Given the description of an element on the screen output the (x, y) to click on. 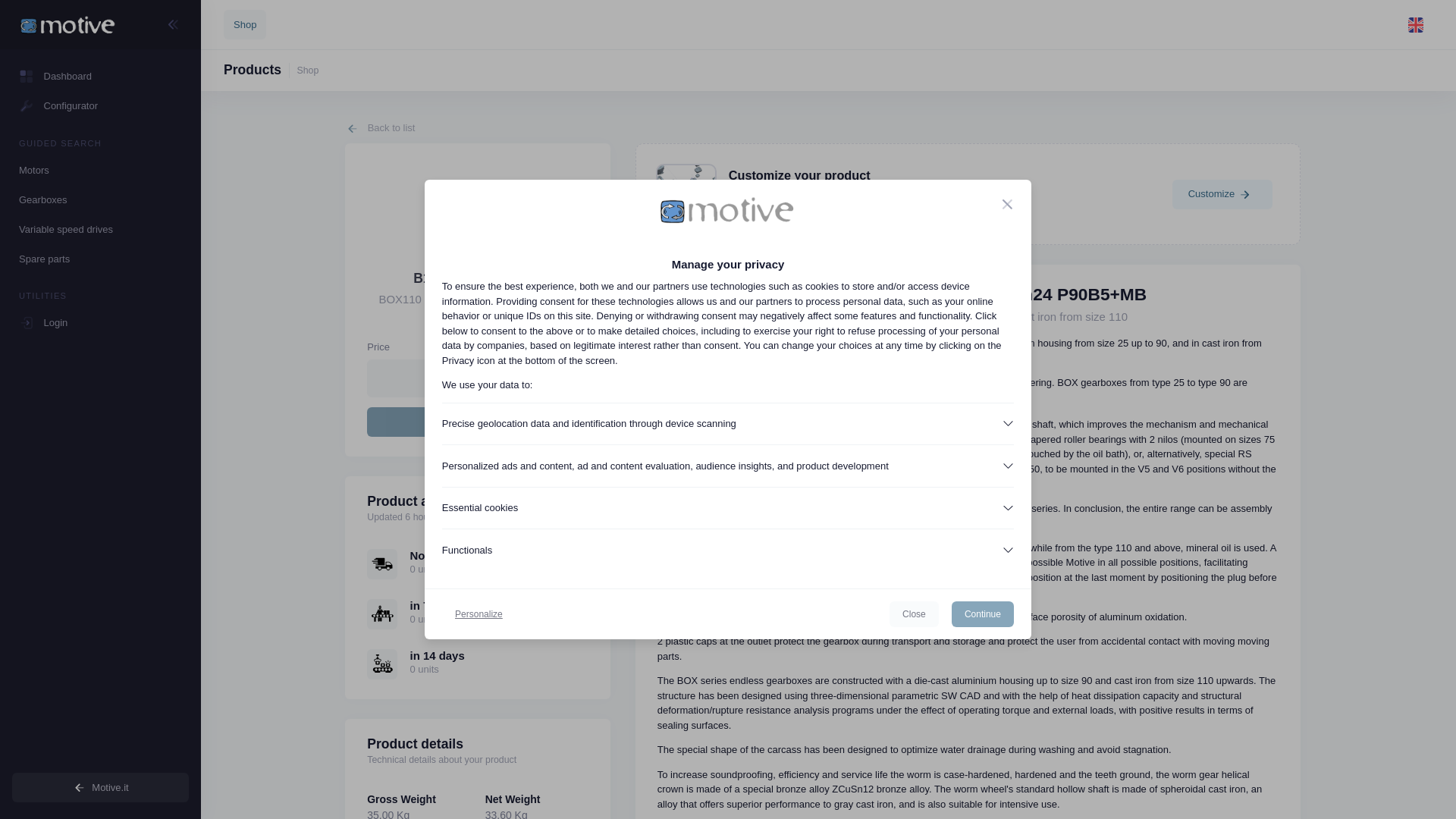
Dashboard (100, 75)
Add to Cart (477, 421)
Variable speed drives (100, 229)
Customize (1222, 194)
Configurator (100, 105)
B11015422490B5MB (477, 278)
Login (100, 322)
Motive.it (100, 787)
Shop (245, 24)
Back to list (379, 128)
Spare parts (100, 258)
Gearboxes (100, 199)
Motors (100, 170)
1 (466, 378)
